Given the description of an element on the screen output the (x, y) to click on. 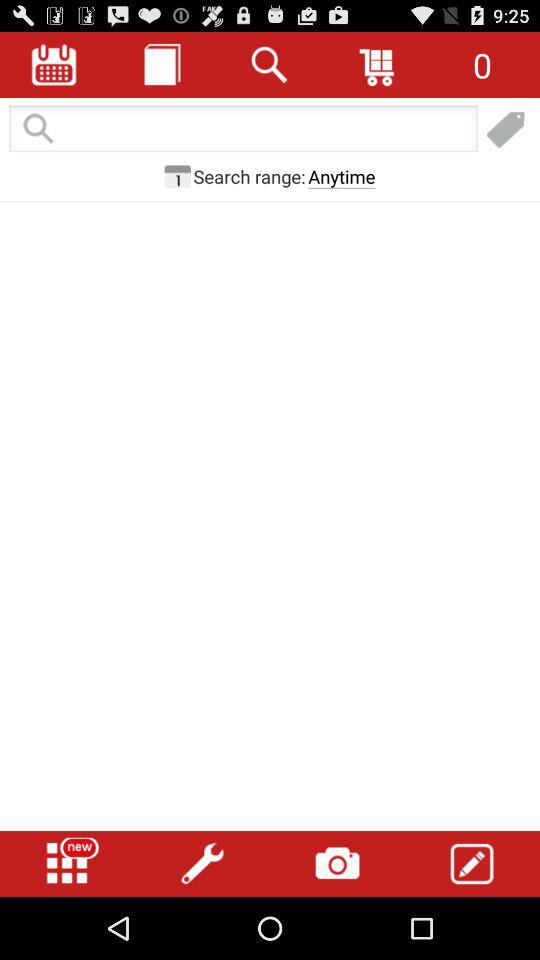
turn on button at the bottom right corner (472, 863)
